Given the description of an element on the screen output the (x, y) to click on. 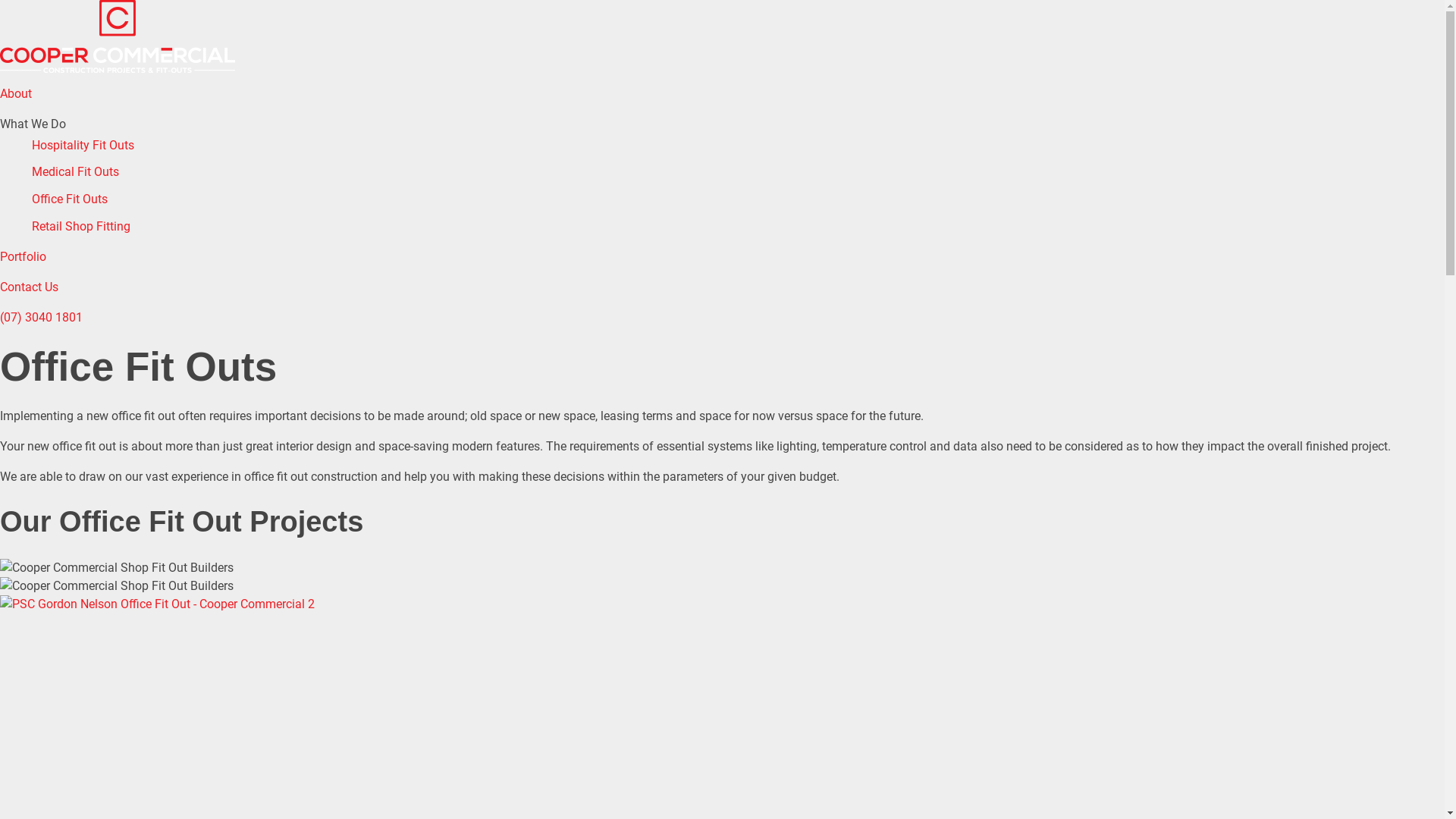
Cooper Commercial Header Logo Element type: hover (117, 36)
Medical Fit Outs Element type: text (75, 171)
(07) 3040 1801 Element type: text (41, 317)
Contact Us Element type: text (29, 286)
About Element type: text (15, 93)
Portfolio Element type: text (23, 256)
Retail Shop Fitting Element type: text (80, 226)
Hospitality Fit Outs Element type: text (82, 145)
Office Fit Outs Element type: text (69, 199)
